Given the description of an element on the screen output the (x, y) to click on. 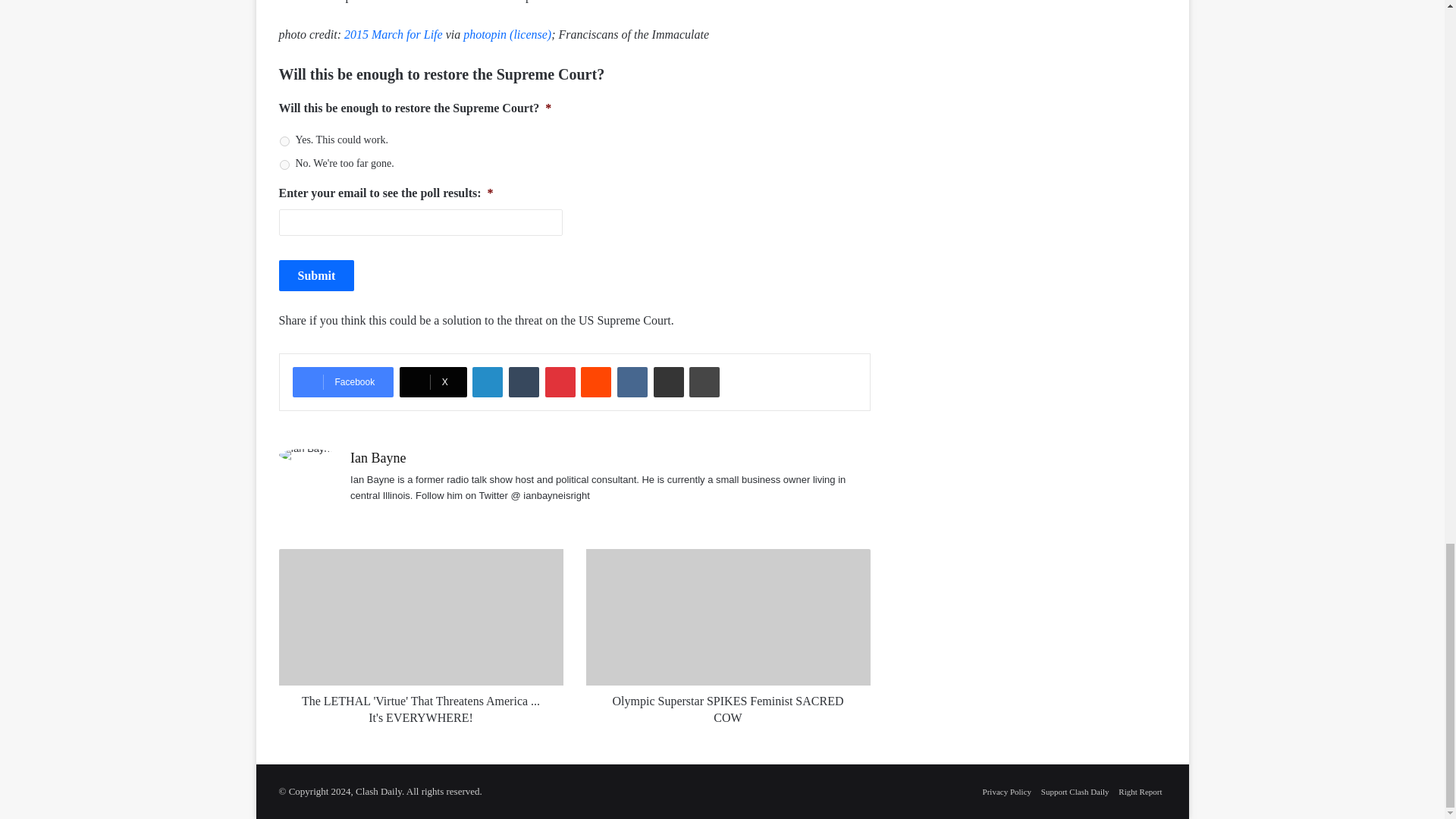
gpoll1b0b84078 (283, 164)
Submit (317, 275)
LinkedIn (486, 381)
Submit (317, 275)
Share via Email (668, 381)
Pinterest (559, 381)
LinkedIn (486, 381)
Tumblr (523, 381)
Facebook (343, 381)
Print (703, 381)
2015 March for Life (392, 33)
gpoll1324f5059 (283, 141)
Reddit (595, 381)
X (432, 381)
X (432, 381)
